Given the description of an element on the screen output the (x, y) to click on. 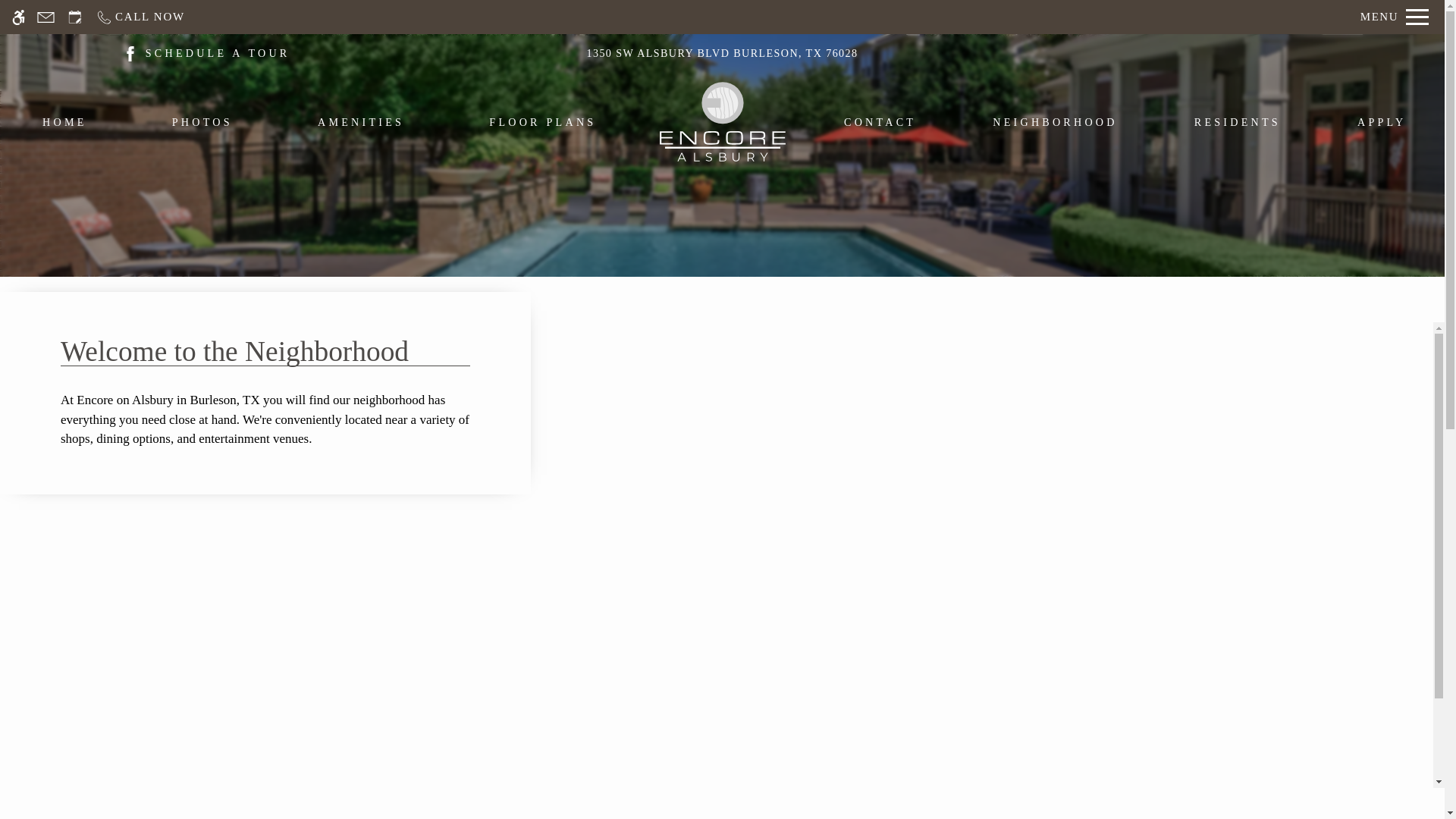
FLOOR PLANS (542, 125)
RESIDENTS (1237, 125)
Contact page (45, 17)
CONTACT (879, 125)
SCHEDULE A TOUR (217, 52)
AMENITIES (360, 125)
Accessible screen reader (18, 17)
PHOTOS (201, 125)
APPLY (1381, 125)
Request an appointment (74, 17)
